Given the description of an element on the screen output the (x, y) to click on. 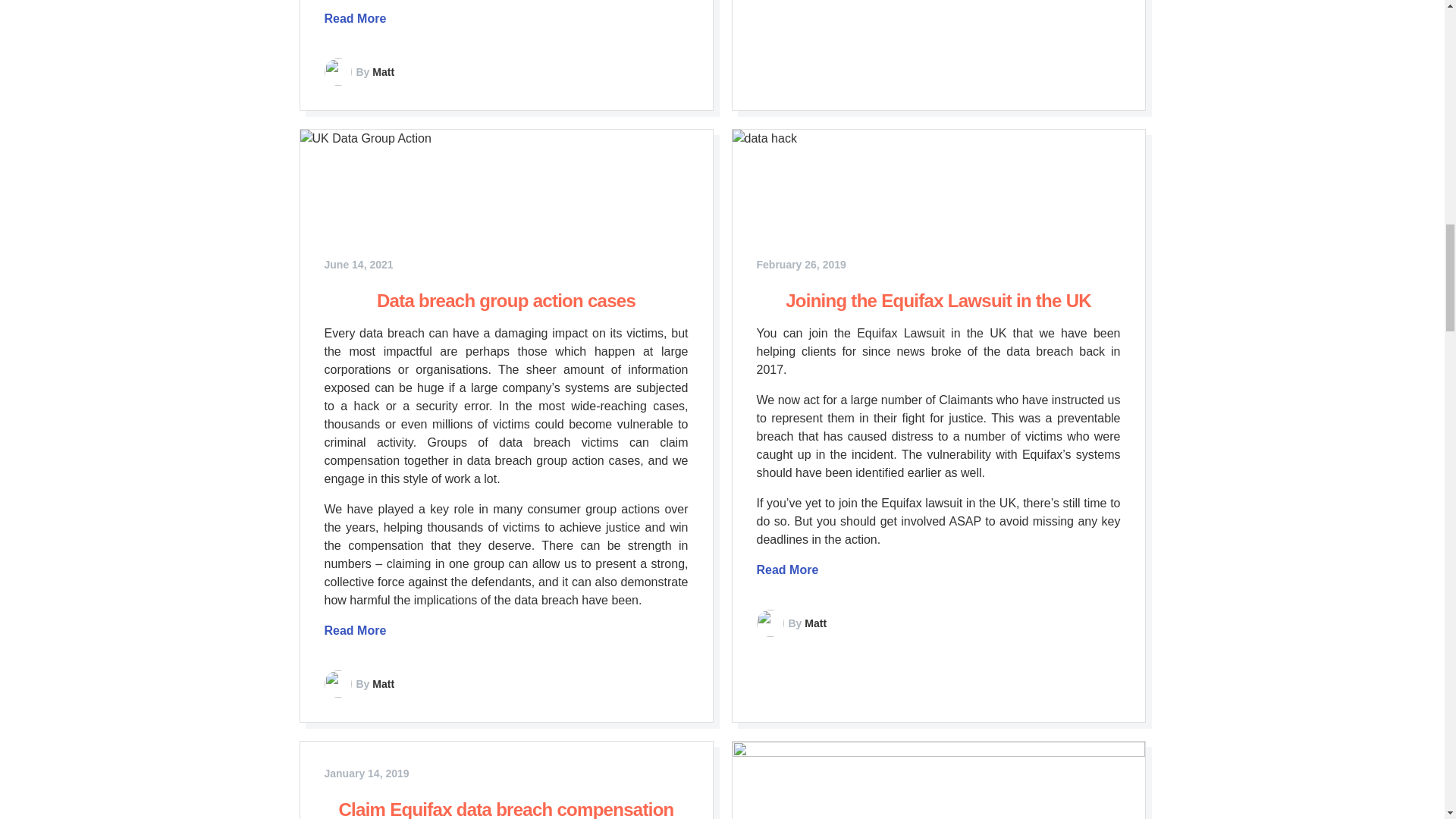
Claim Equifax data breach compensation (504, 809)
Data breach group action cases (505, 300)
Joining the Equifax Lawsuit in the UK (938, 300)
Read More (355, 630)
Read More (787, 569)
Read More (355, 18)
